Given the description of an element on the screen output the (x, y) to click on. 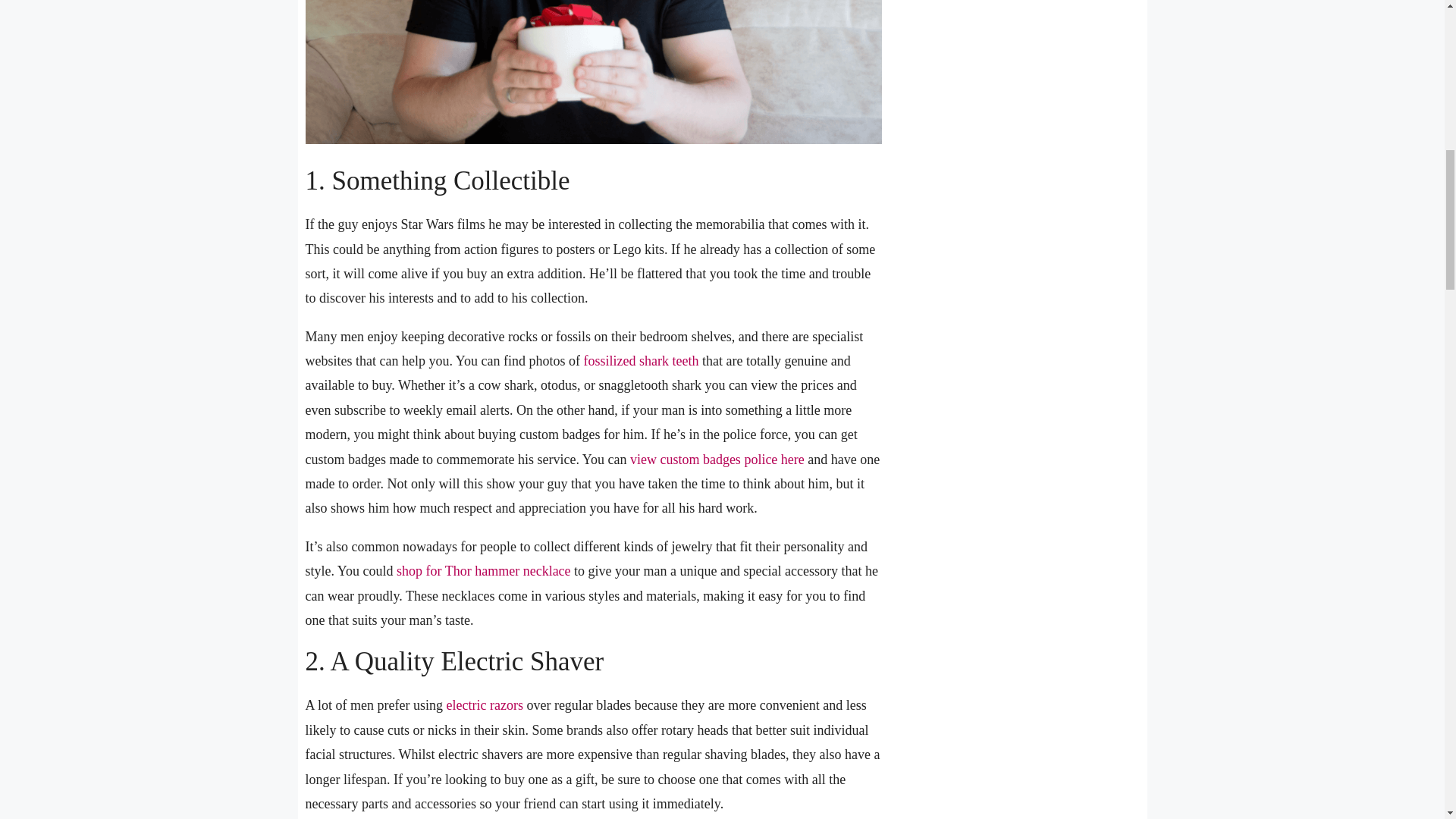
gift-1024x720 (592, 71)
fossilized shark teeth (640, 360)
electric razors (483, 704)
view custom badges police here (717, 459)
shop for Thor hammer necklace (483, 570)
